Given the description of an element on the screen output the (x, y) to click on. 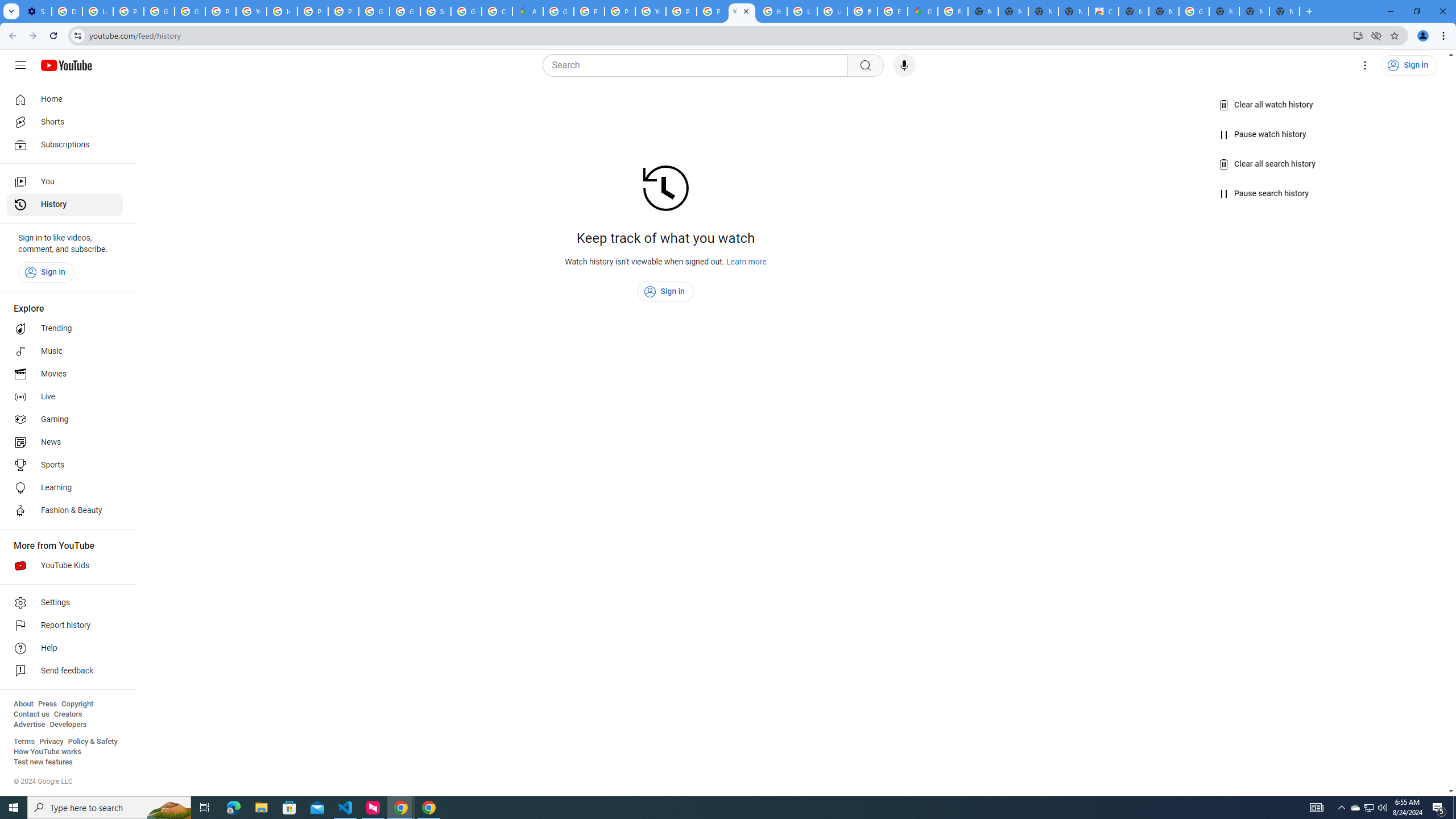
Report history (64, 625)
Learn more (746, 261)
Clear all watch history (1266, 105)
Pause search history (1264, 193)
How YouTube works (47, 751)
History (64, 204)
